Given the description of an element on the screen output the (x, y) to click on. 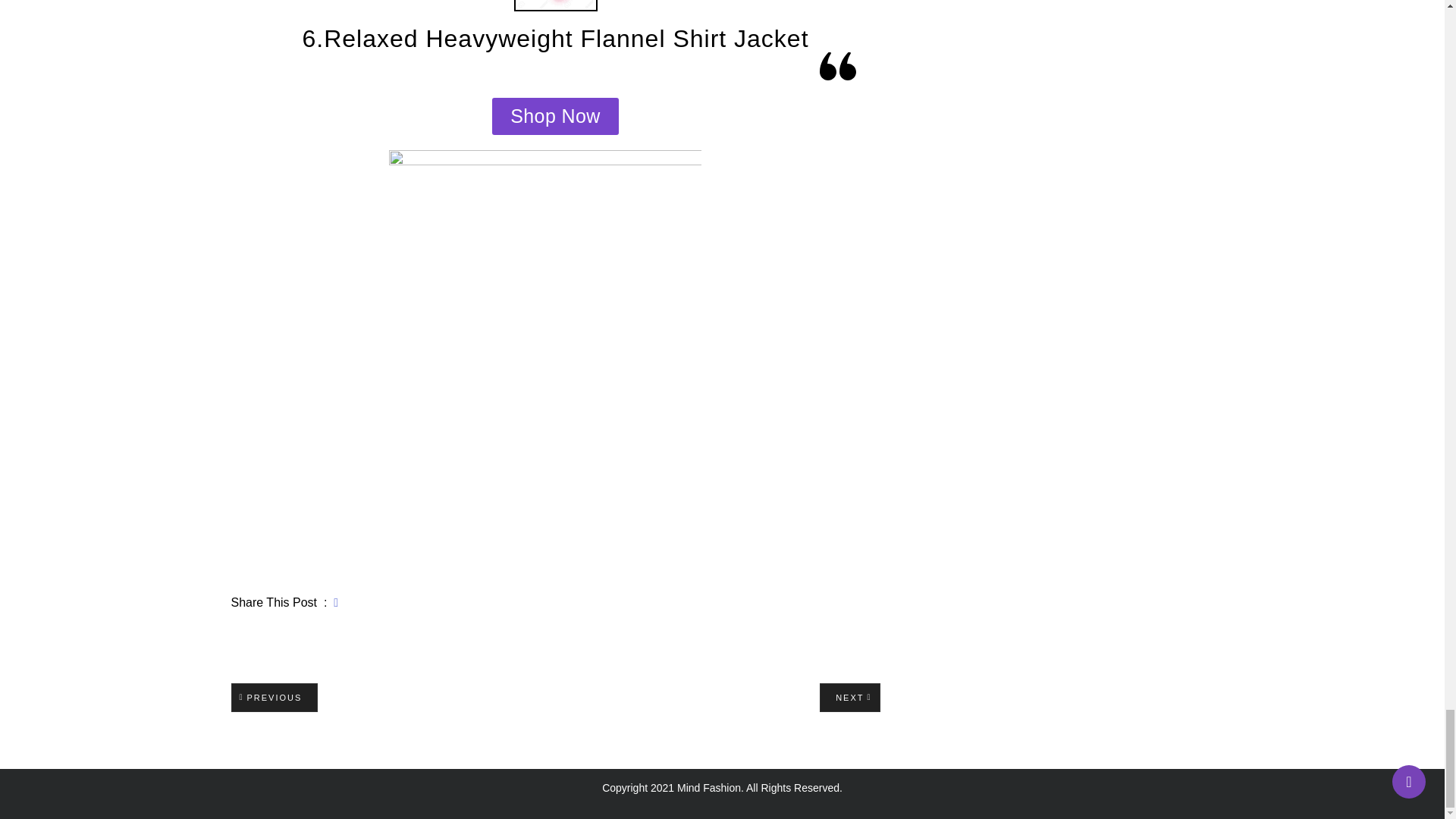
Shop Now (555, 116)
NEXT (849, 697)
PREVIOUS (273, 697)
6.Relaxed Heavyweight Flannel Shirt Jacket (554, 38)
